Given the description of an element on the screen output the (x, y) to click on. 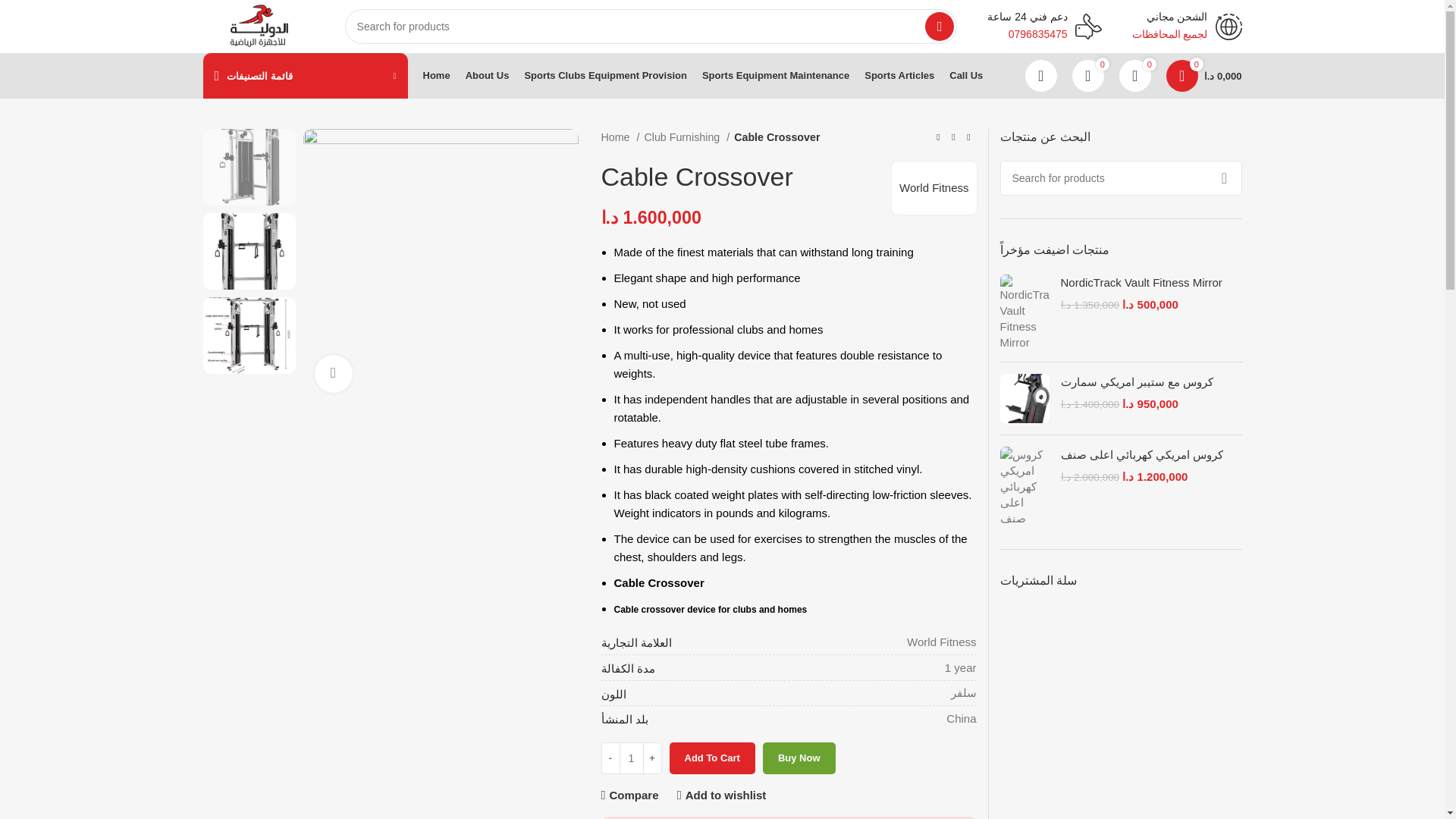
Shopping cart (1203, 75)
3636621446.jpg (440, 266)
Search for products (1119, 177)
My account (1040, 75)
Compare products (1088, 75)
NordicTrack Vault Fitness Mirror (1150, 282)
My Wishlist (1135, 75)
Search for products (651, 26)
Search (938, 26)
